Given the description of an element on the screen output the (x, y) to click on. 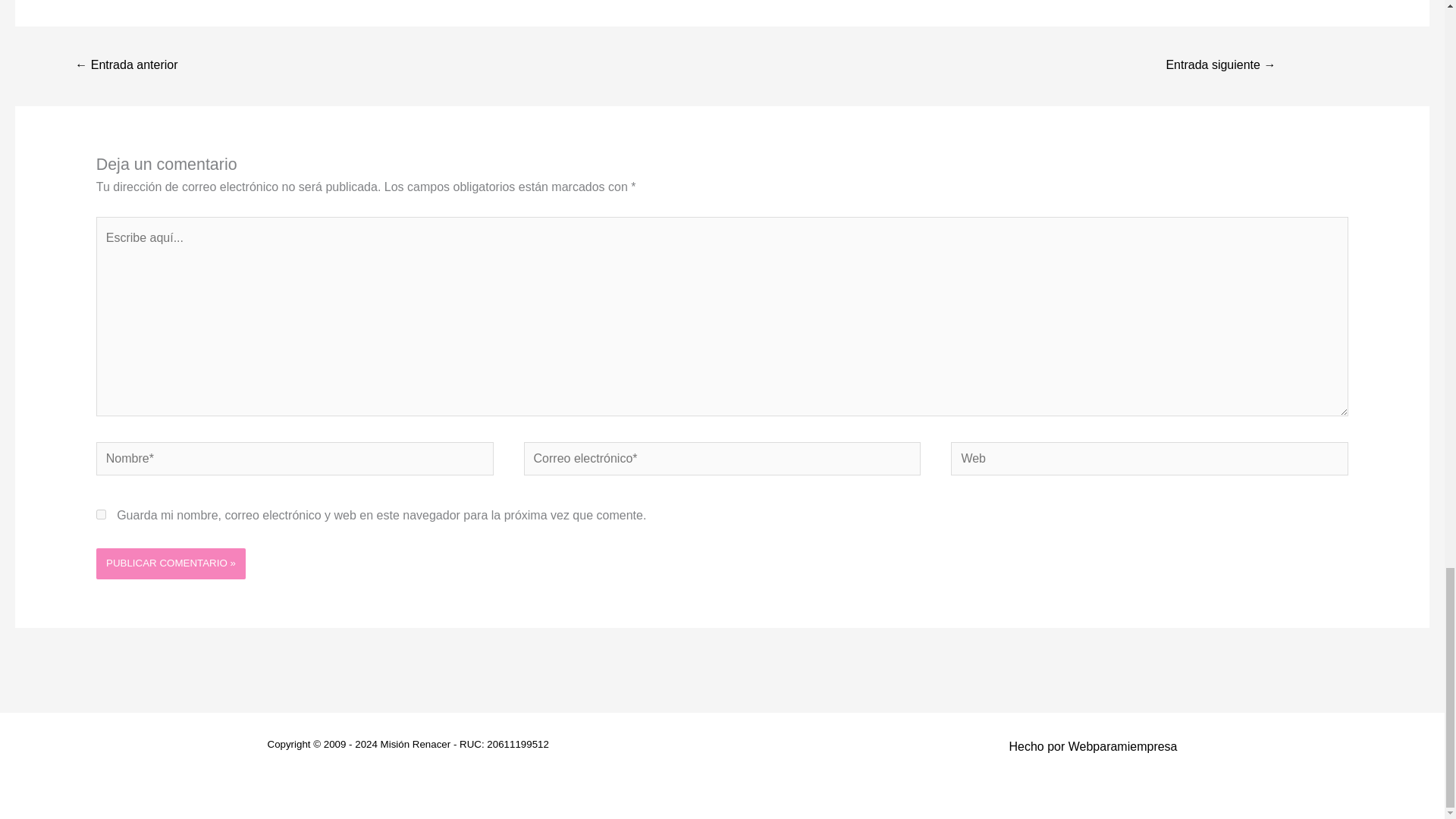
Payday loan For the North Brunswick, New jersey, Us (125, 66)
yes (101, 514)
